Given the description of an element on the screen output the (x, y) to click on. 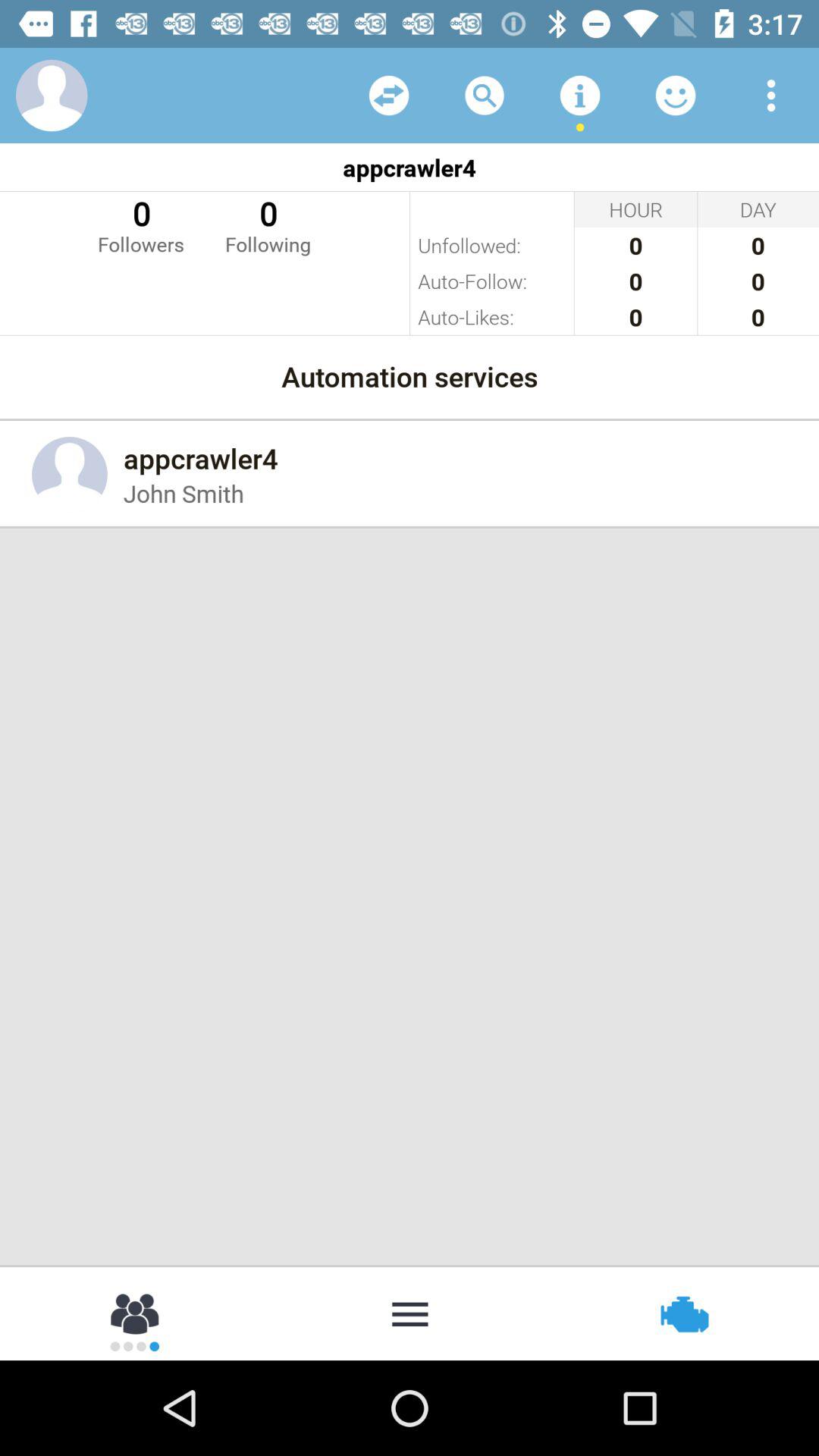
emoji menu (675, 95)
